Given the description of an element on the screen output the (x, y) to click on. 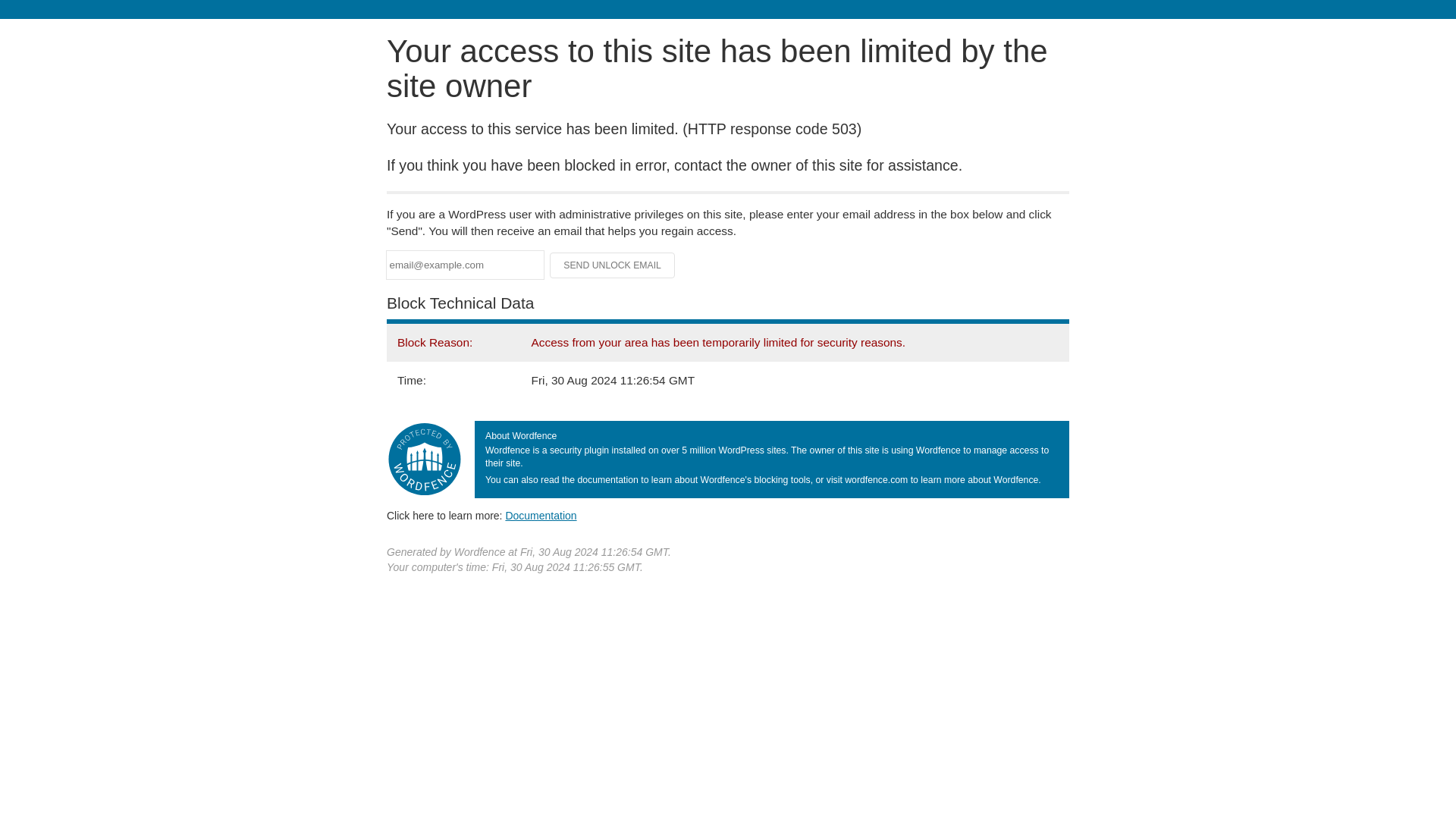
Send Unlock Email (612, 265)
Send Unlock Email (612, 265)
Documentation (540, 515)
